Given the description of an element on the screen output the (x, y) to click on. 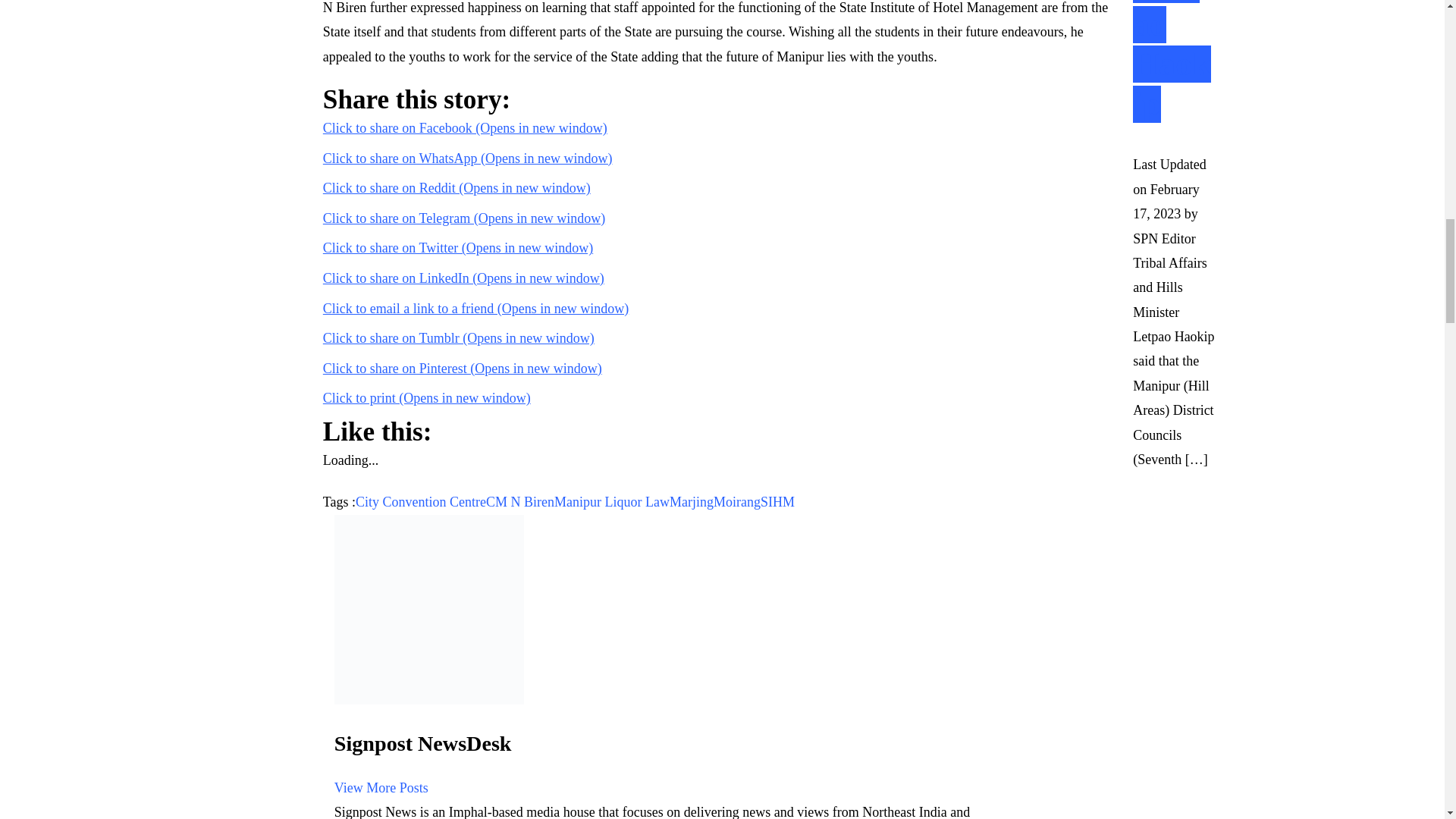
Click to print (427, 397)
Click to share on Twitter (457, 247)
Click to share on LinkedIn (463, 278)
Click to share on Facebook (465, 127)
Click to share on Tumblr (458, 337)
Click to share on Telegram (464, 218)
Click to email a link to a friend (475, 308)
Click to share on Reddit (457, 187)
Click to share on WhatsApp (467, 158)
Click to share on Pinterest (462, 368)
